Given the description of an element on the screen output the (x, y) to click on. 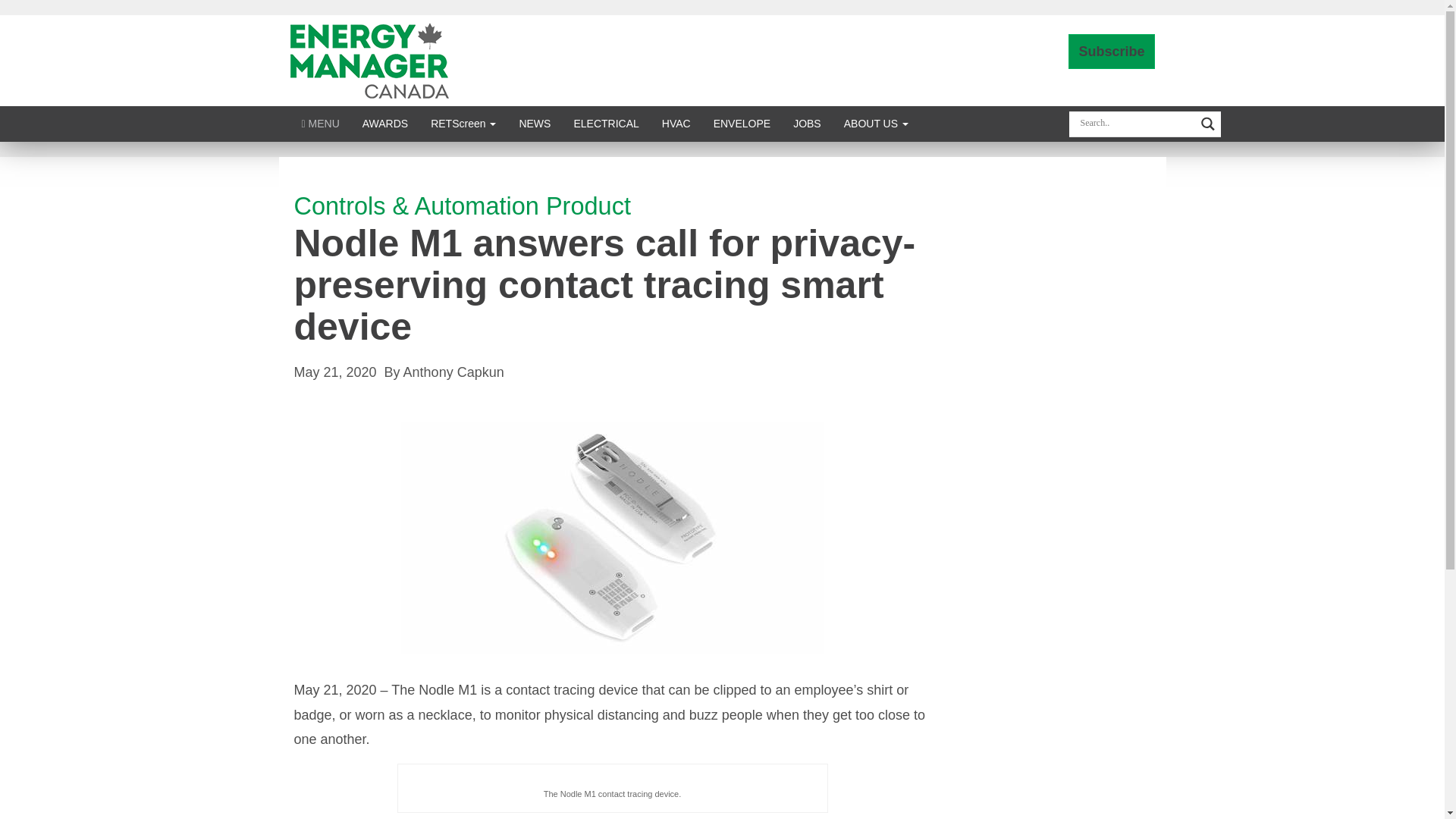
ELECTRICAL (605, 123)
RETScreen (462, 123)
ENVELOPE (741, 123)
NEWS (534, 123)
Click to show site navigation (319, 123)
Subscribe (1111, 51)
Energy Manager (368, 59)
Subscribe (1111, 51)
AWARDS (384, 123)
JOBS (806, 123)
